Given the description of an element on the screen output the (x, y) to click on. 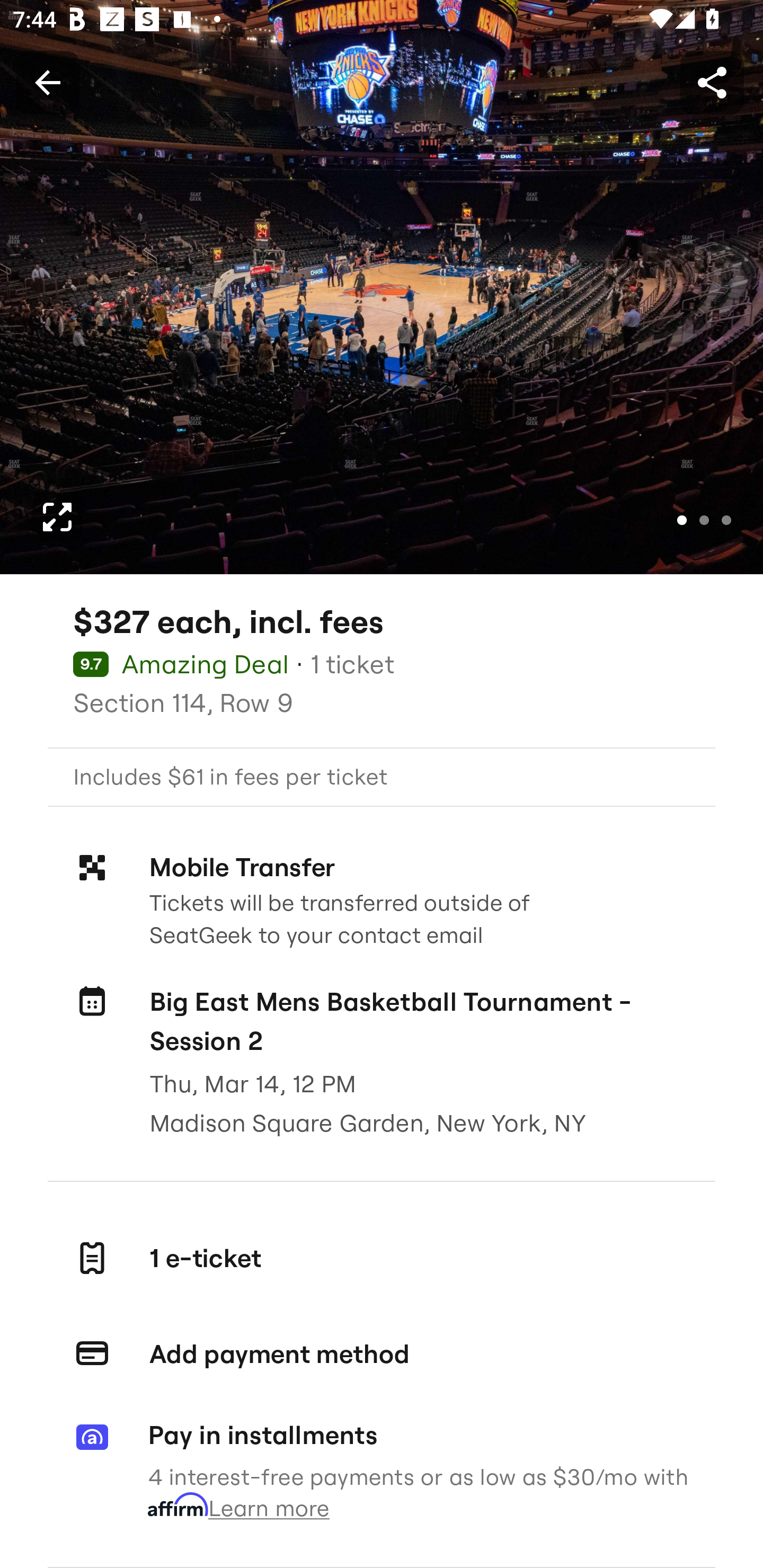
Back (47, 81)
Share (711, 81)
Expand image to fullscreen (57, 517)
1 e-ticket (381, 1258)
Add payment method (381, 1353)
